Given the description of an element on the screen output the (x, y) to click on. 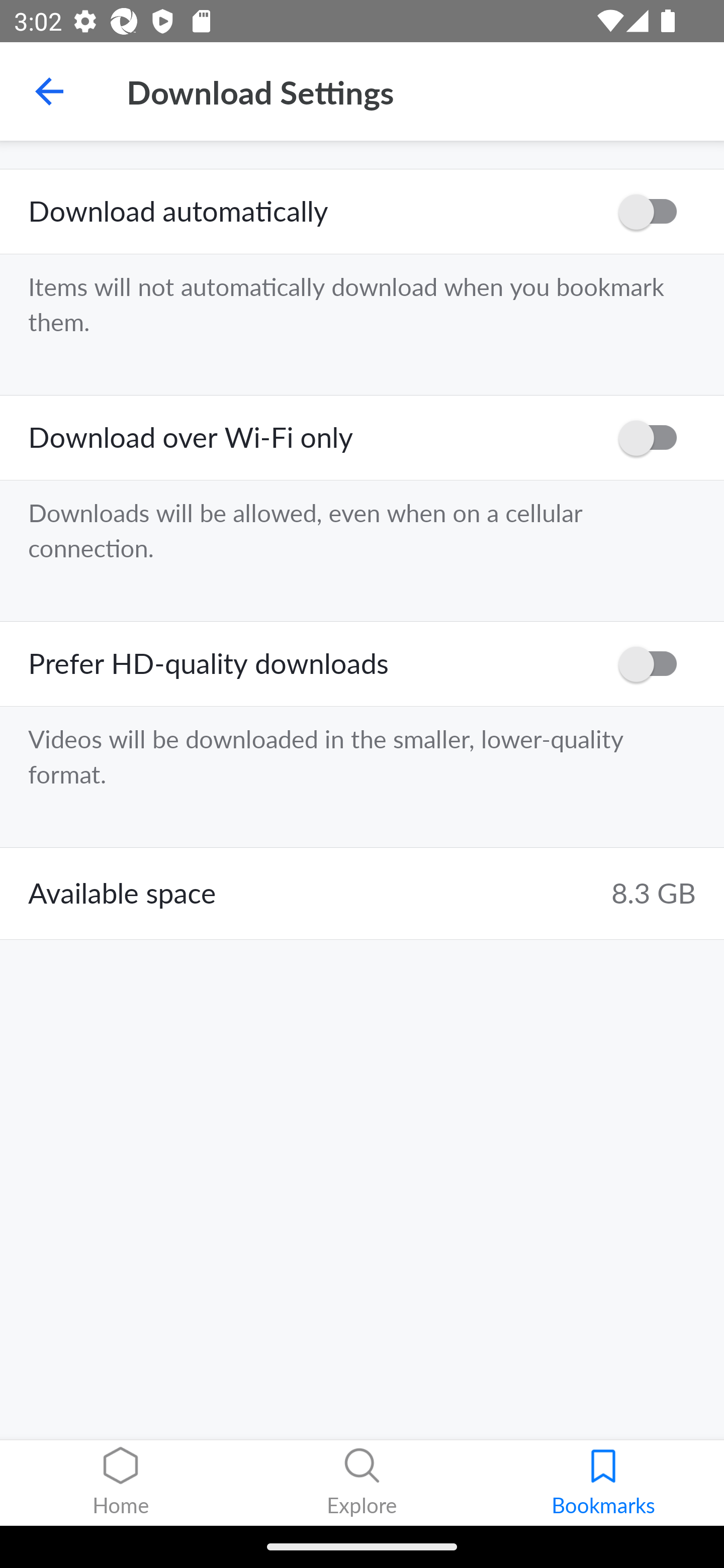
Navigate up (49, 91)
OFF (653, 211)
OFF (653, 437)
OFF (653, 663)
Home (120, 1482)
Explore (361, 1482)
Bookmarks (603, 1482)
